Given the description of an element on the screen output the (x, y) to click on. 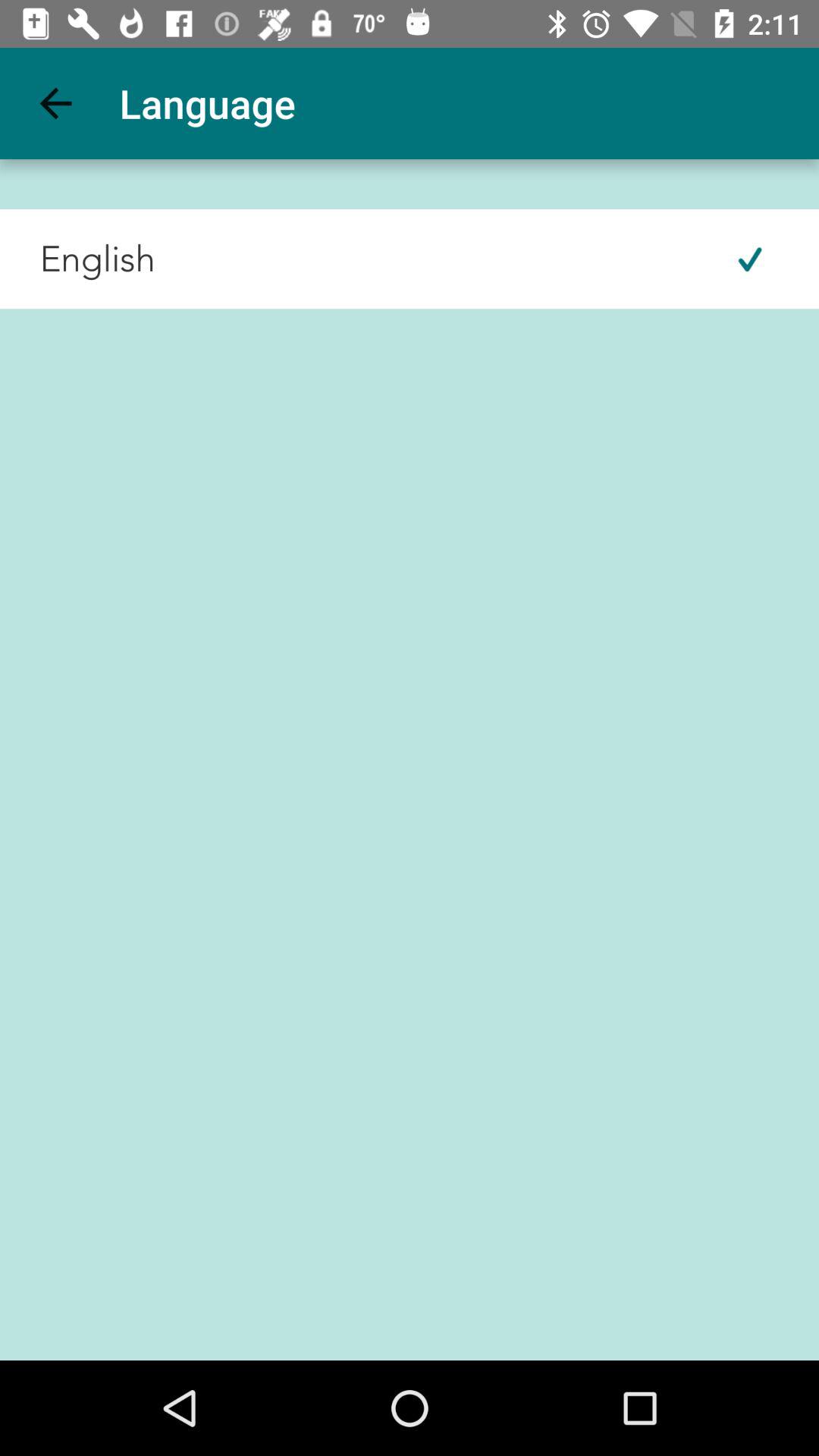
choose icon to the left of language item (55, 103)
